Given the description of an element on the screen output the (x, y) to click on. 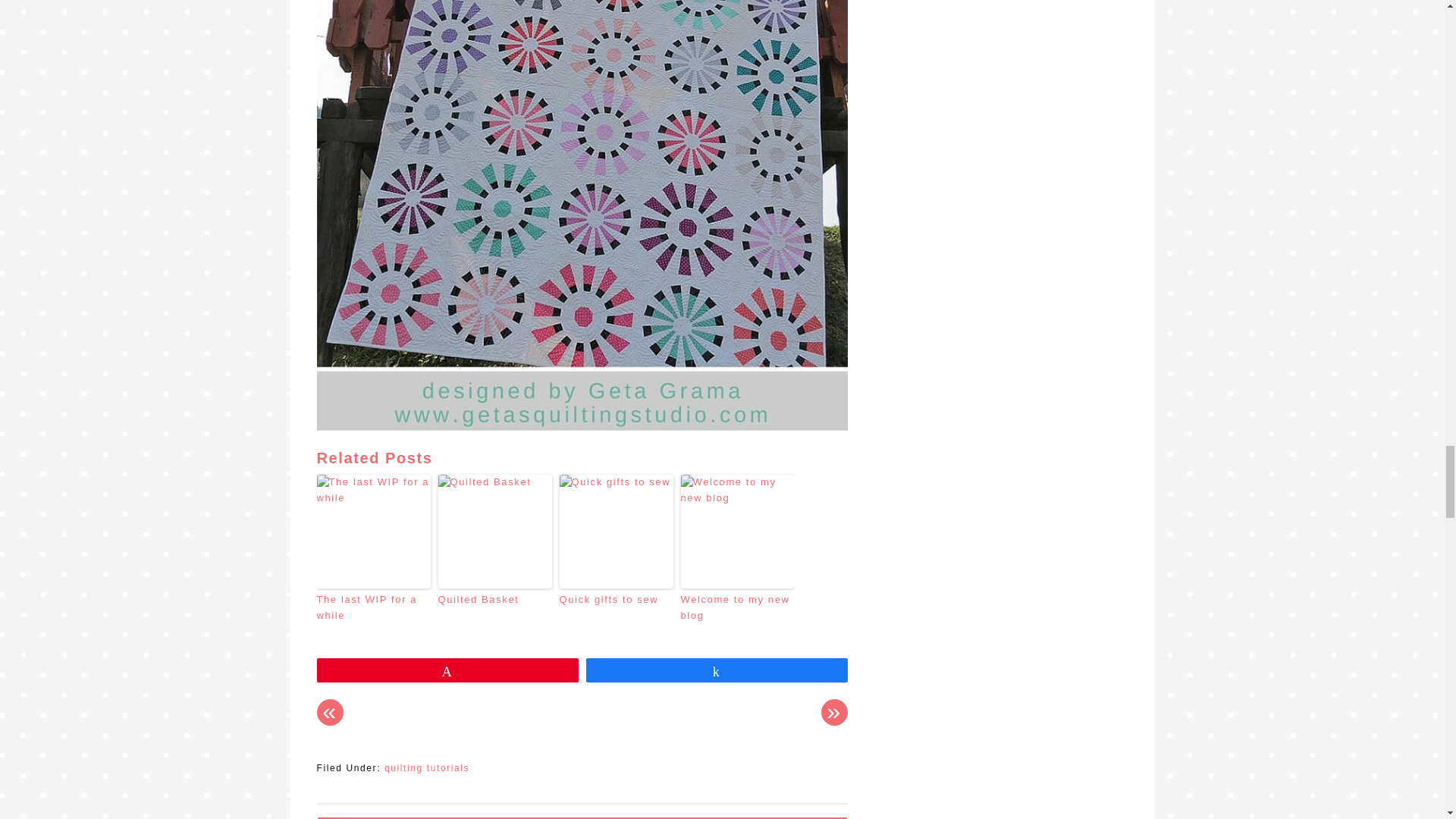
Quilted Basket (494, 600)
Next Post: New Faux Leather Woven Bags (834, 712)
Quick gifts to sew (615, 600)
The last WIP for a while (373, 608)
Previous Post: Tips for piecing Dresden Fan Plate Blocks (330, 712)
quilting tutorials (426, 767)
Welcome to my new blog (737, 608)
